Given the description of an element on the screen output the (x, y) to click on. 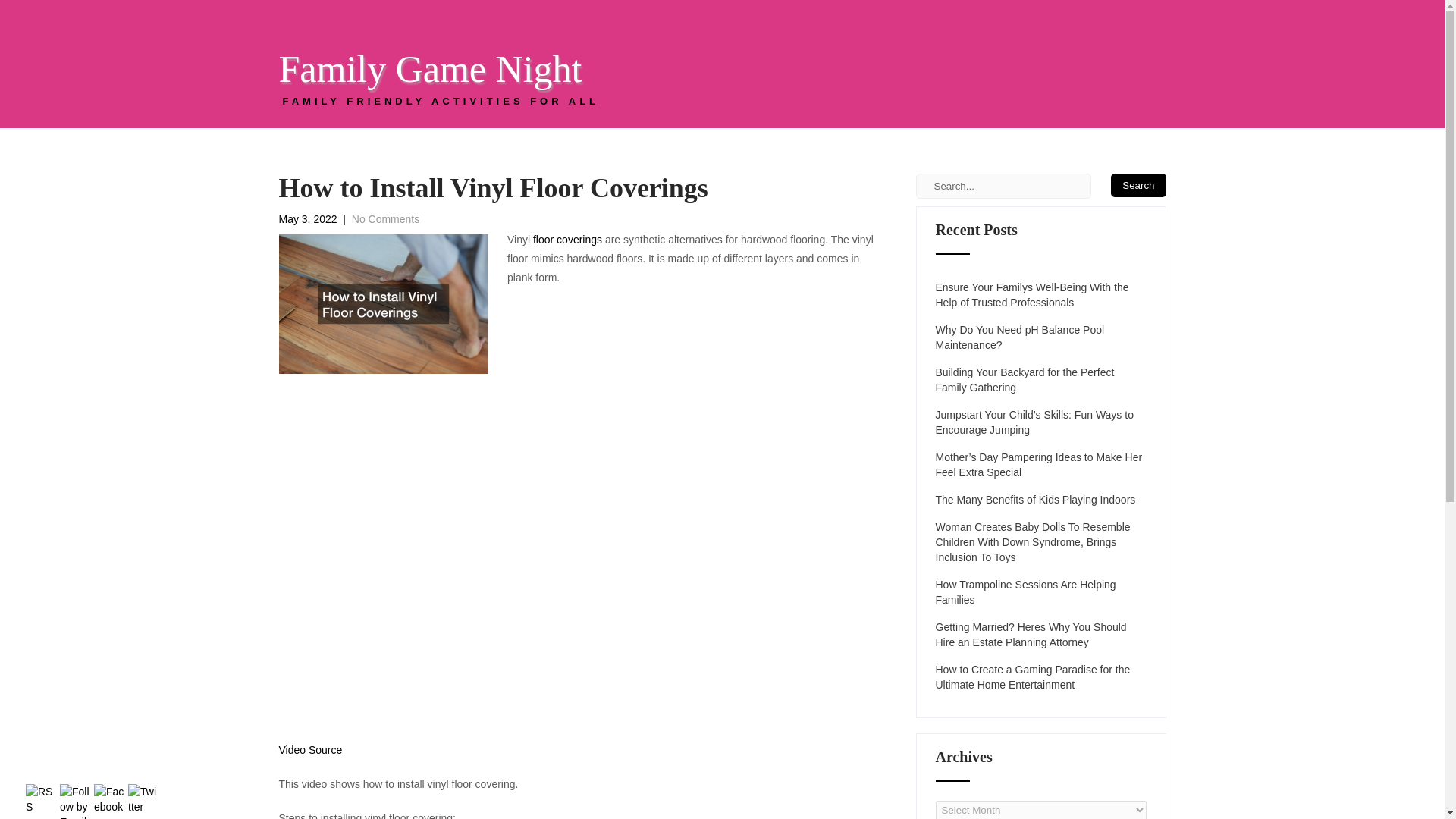
Search (1138, 185)
Search (1138, 185)
How Trampoline Sessions Are Helping Families (1041, 592)
Search (1138, 185)
Twitter (143, 798)
Building Your Backyard for the Perfect Family Gathering (439, 84)
The Many Benefits of Kids Playing Indoors (1041, 379)
